Given the description of an element on the screen output the (x, y) to click on. 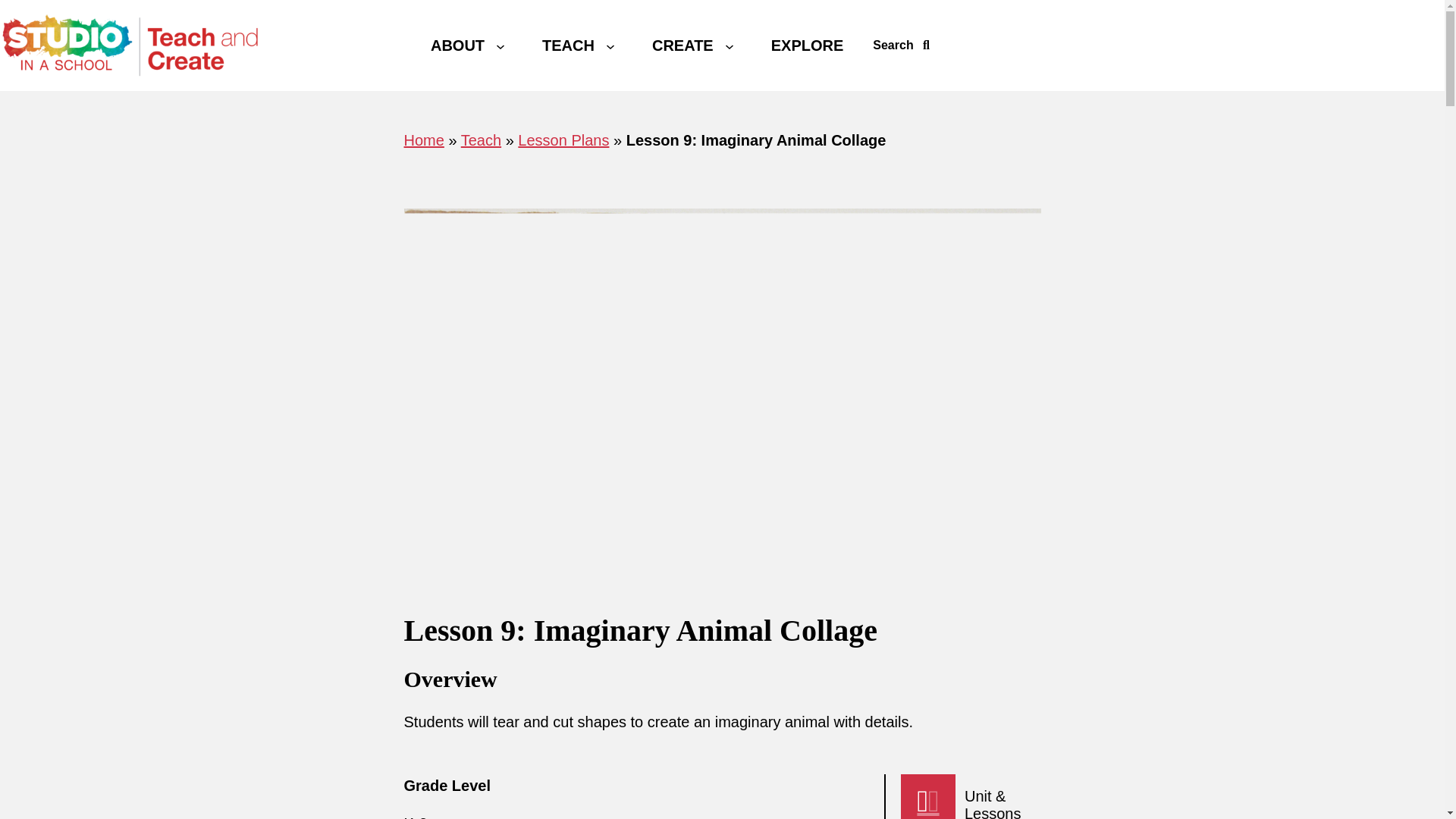
Teach: Units and Lesson Plans for Educators (568, 45)
About Studio in a School (457, 45)
Lesson Plans (563, 139)
Search (901, 45)
TEACH (568, 45)
ABOUT (457, 45)
CREATE (682, 45)
Home (423, 139)
Explore All of Our Content Through an Advanced Search (808, 45)
